Given the description of an element on the screen output the (x, y) to click on. 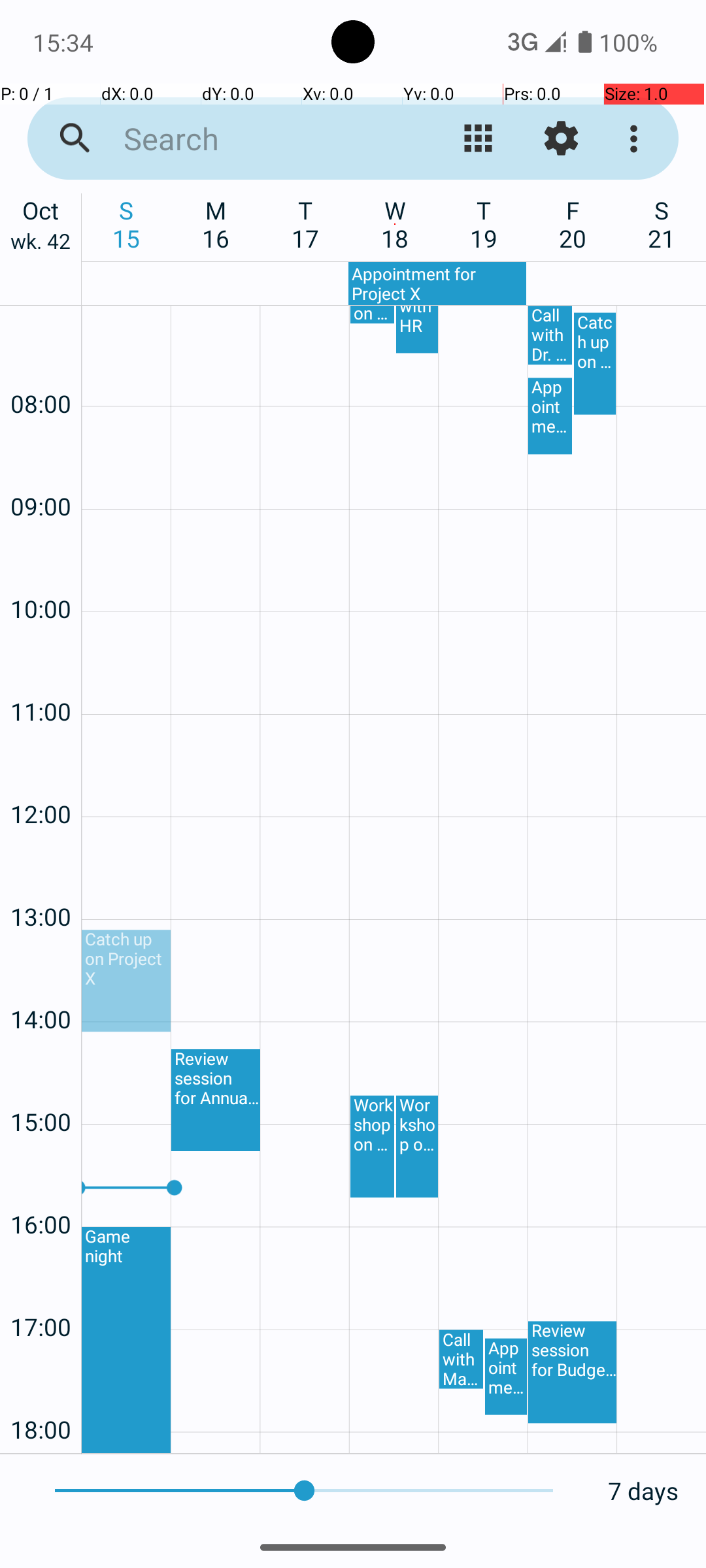
wk. 42 Element type: android.widget.TextView (40, 243)
7 days Element type: android.widget.TextView (642, 1490)
08:00 Element type: android.widget.TextView (40, 368)
10:00 Element type: android.widget.TextView (40, 573)
11:00 Element type: android.widget.TextView (40, 676)
12:00 Element type: android.widget.TextView (40, 778)
13:00 Element type: android.widget.TextView (40, 881)
14:00 Element type: android.widget.TextView (40, 983)
15:00 Element type: android.widget.TextView (40, 1086)
17:00 Element type: android.widget.TextView (40, 1291)
18:00 Element type: android.widget.TextView (40, 1394)
19:00 Element type: android.widget.TextView (40, 1449)
S
15 Element type: android.widget.TextView (126, 223)
M
16 Element type: android.widget.TextView (215, 223)
T
17 Element type: android.widget.TextView (305, 223)
W
18 Element type: android.widget.TextView (394, 223)
T
19 Element type: android.widget.TextView (483, 223)
F
20 Element type: android.widget.TextView (572, 223)
S
21 Element type: android.widget.TextView (661, 223)
Appointment for Project X Element type: android.widget.TextView (437, 283)
Game night Element type: android.widget.TextView (125, 1339)
Review session for Annual Report Element type: android.widget.TextView (215, 1100)
Workshop on Annual Report Element type: android.widget.TextView (372, 1146)
Call with HR Element type: android.widget.TextView (416, 329)
Workshop on Campaign Element type: android.widget.TextView (372, 314)
Appointment for Budget Planning Element type: android.widget.TextView (505, 1376)
Call with Marketing Element type: android.widget.TextView (461, 1359)
Review session for Budget Planning Element type: android.widget.TextView (572, 1371)
Appointment for Annual Report Element type: android.widget.TextView (549, 415)
Call with Dr. Smith Element type: android.widget.TextView (549, 334)
